Given the description of an element on the screen output the (x, y) to click on. 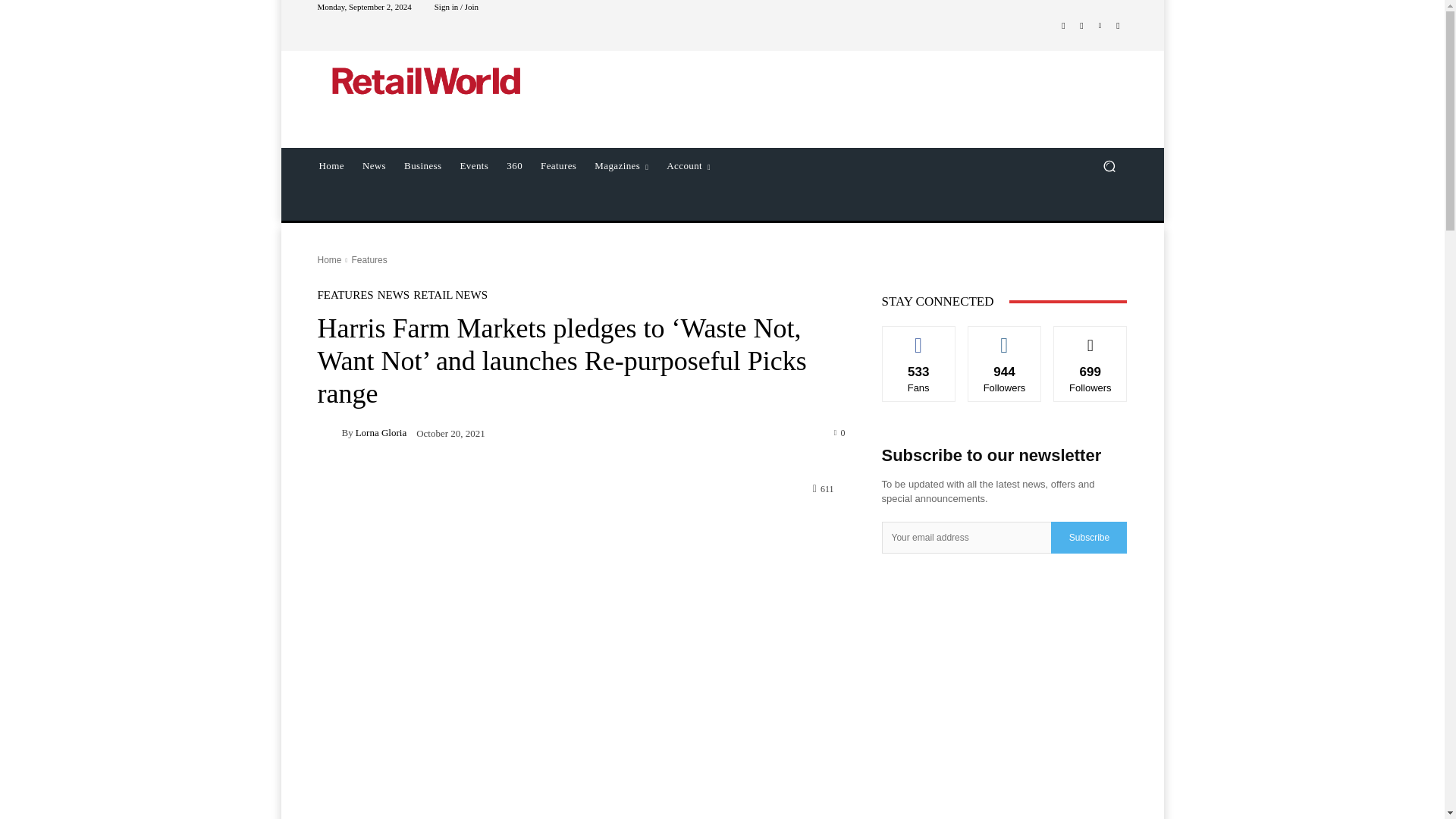
Events (474, 166)
360 (514, 166)
Business (421, 166)
News (373, 166)
Lorna Gloria (328, 433)
Magazines (621, 166)
Facebook (1062, 25)
Home (330, 166)
FEATURES (344, 295)
Instagram (1080, 25)
